Given the description of an element on the screen output the (x, y) to click on. 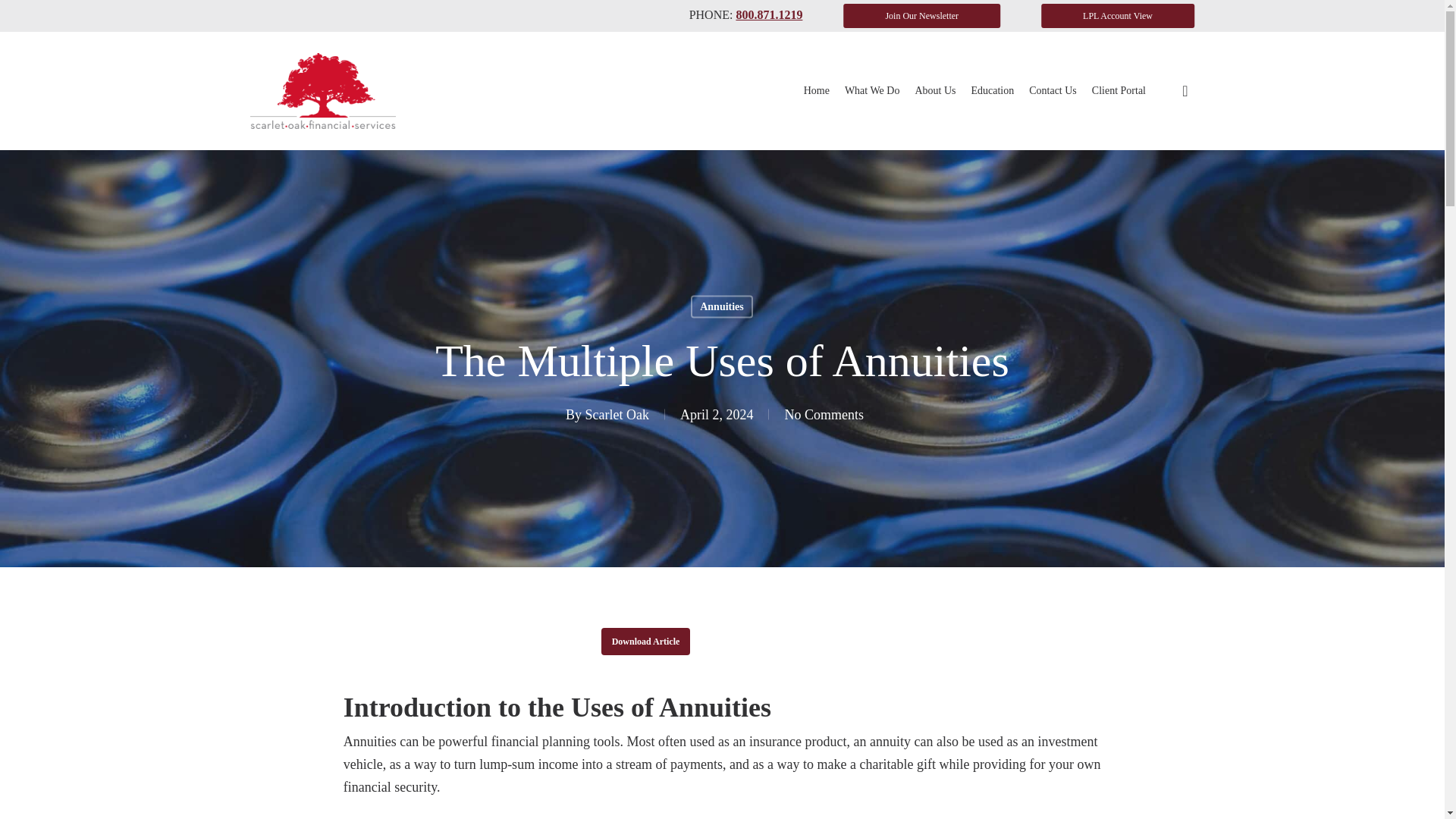
Posts by Scarlet Oak (617, 413)
About Us (934, 90)
Join Our Newsletter (921, 15)
Home (816, 90)
800.871.1219 (768, 14)
What We Do (871, 90)
Education (992, 90)
LPL Account View (1117, 15)
